Given the description of an element on the screen output the (x, y) to click on. 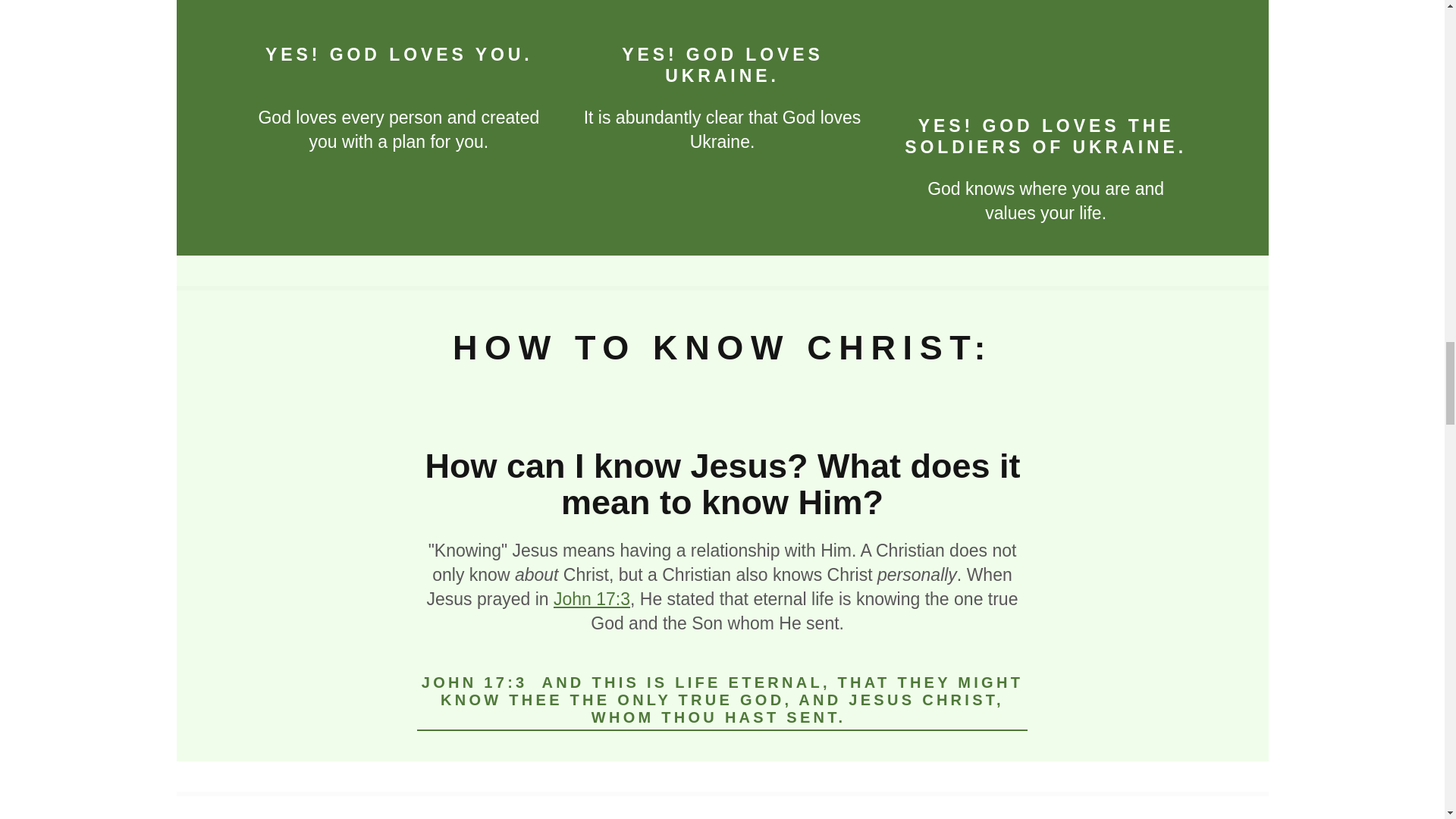
John 17:3 (591, 598)
